Given the description of an element on the screen output the (x, y) to click on. 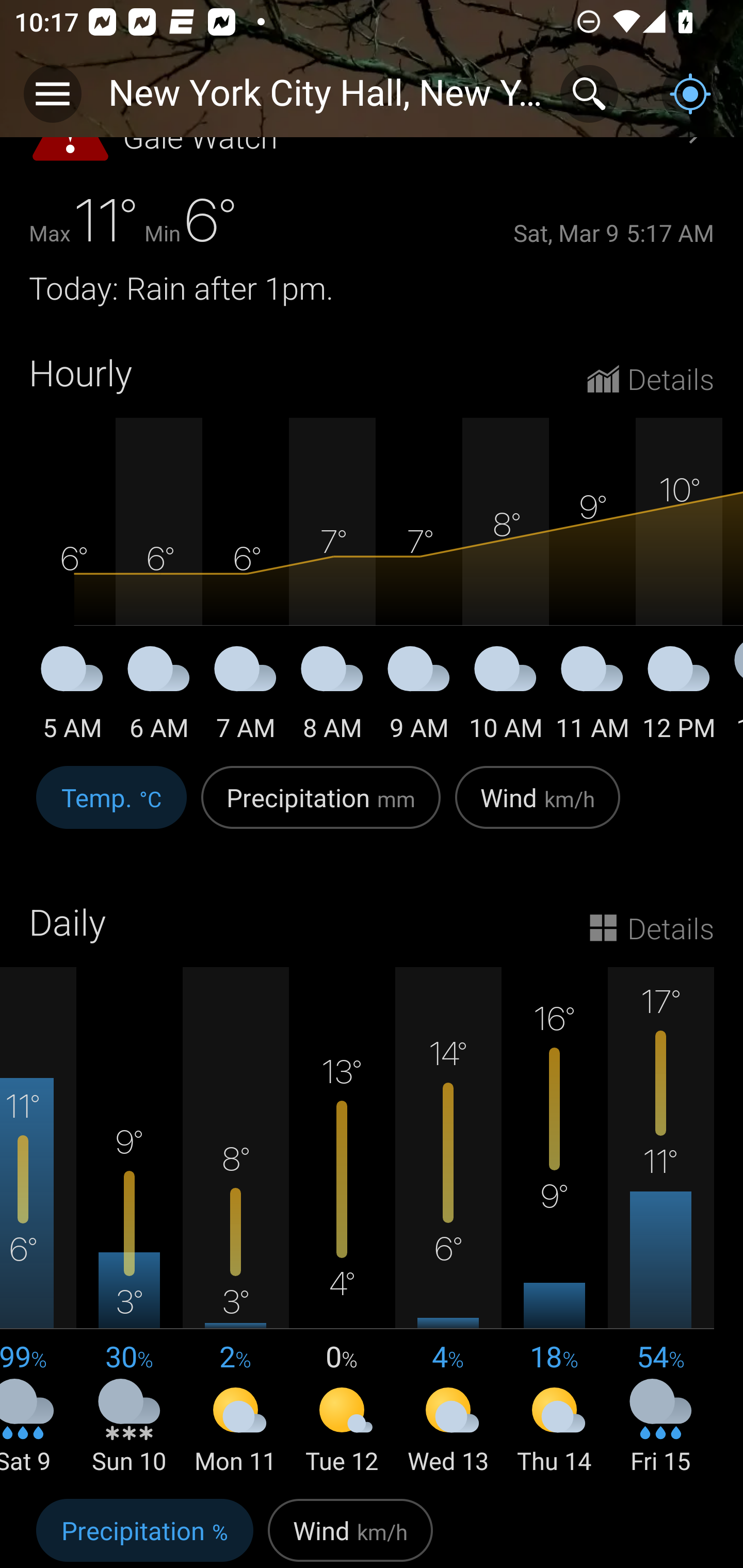
5 AM 6 AM 7 AM 8 AM 9 AM 10 AM 11 AM 12 PM 1 PM (371, 580)
5 AM (71, 696)
6 AM (158, 696)
7 AM (245, 696)
8 AM (332, 696)
9 AM (418, 696)
10 AM (505, 696)
11 AM (592, 696)
12 PM (679, 696)
1 PM (732, 696)
Temp. °C (110, 807)
Precipitation mm (320, 807)
Wind km/h (537, 807)
11° 6° 99 % Sat 9 (38, 1222)
9° 3° 30 % Sun 10 (129, 1222)
8° 3° 2 % Mon 11 (235, 1222)
13° 4° 0 % Tue 12 (342, 1222)
14° 6° 4 % Wed 13 (448, 1222)
16° 9° 18 % Thu 14 (554, 1222)
17° 11° 54 % Fri 15 (660, 1222)
Precipitation % (144, 1529)
Wind km/h (349, 1529)
